Given the description of an element on the screen output the (x, y) to click on. 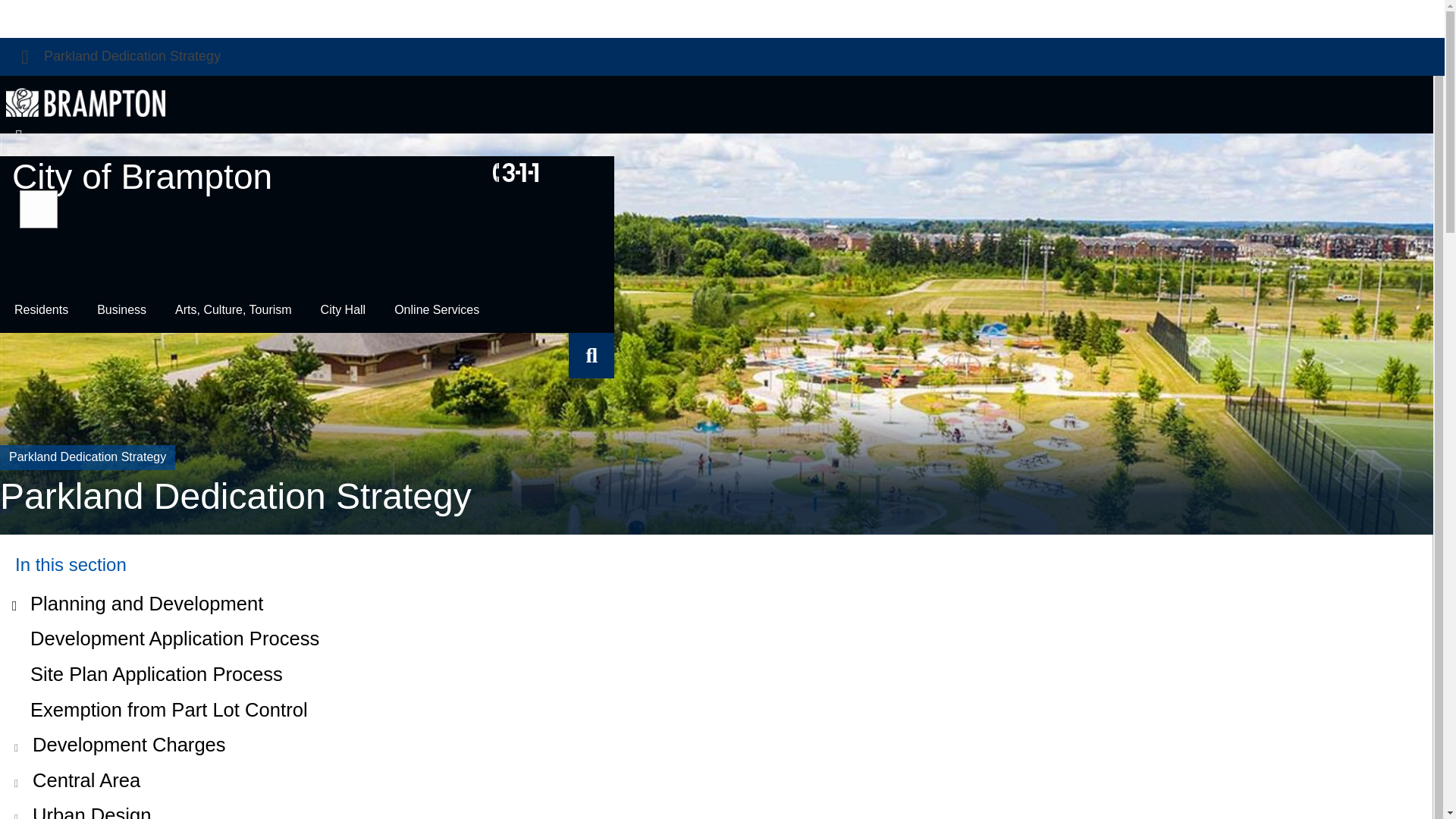
Go back to Brampton.ca home page (85, 102)
Toggle the Search Box (591, 355)
Residents (41, 309)
Request, track, and explore City Services (515, 171)
Custom City of Brampton Website (716, 745)
Custom City of Brampton Website (716, 781)
Custom City of Brampton Website (716, 808)
